Given the description of an element on the screen output the (x, y) to click on. 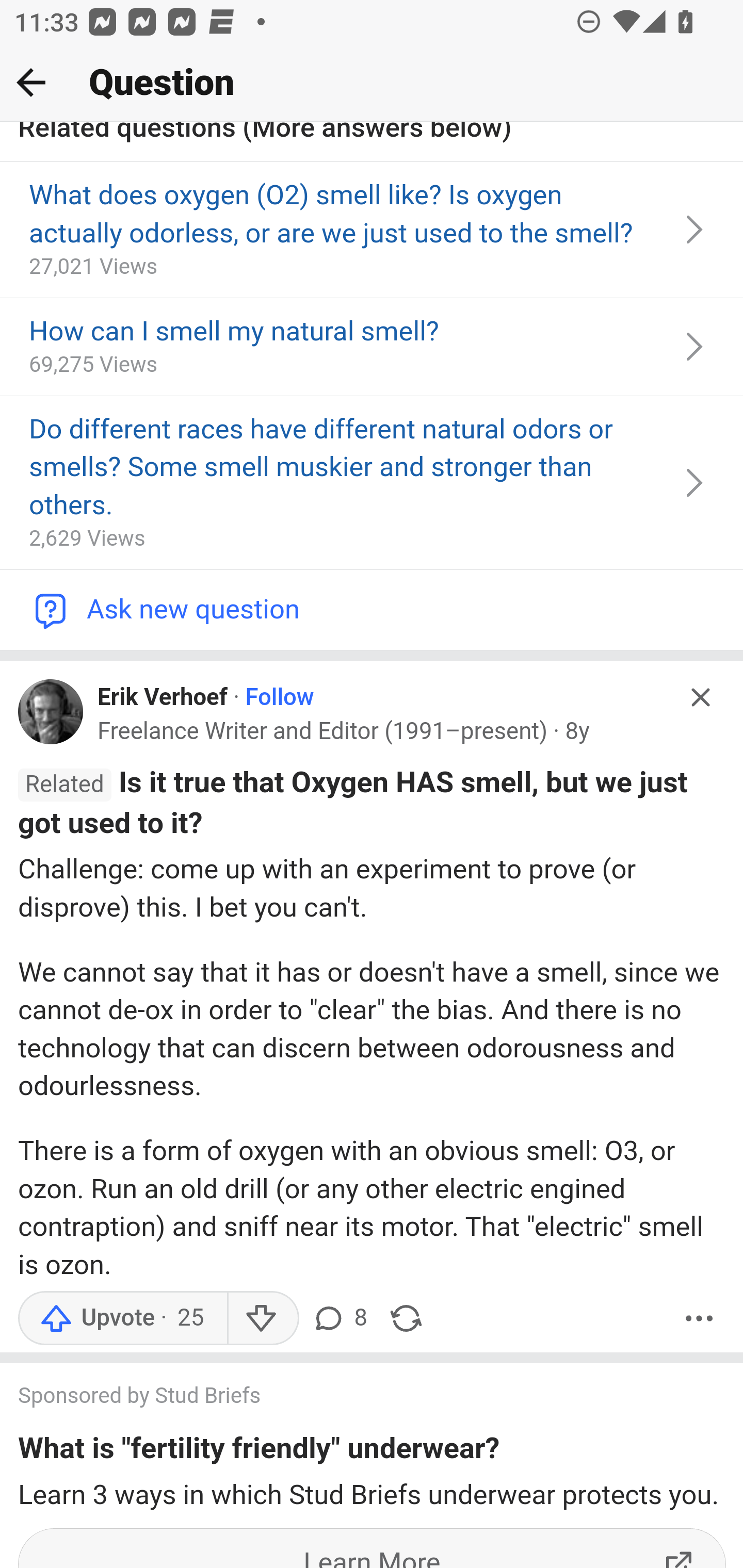
Back (30, 82)
How can I smell my natural smell? 69,275 Views (371, 347)
Ask new question (371, 610)
Hide (700, 698)
Profile photo for Erik Verhoef (50, 712)
Erik Verhoef (162, 698)
Follow (279, 698)
Sponsored by Stud Briefs (352, 1398)
What is "fertility friendly" underwear? (258, 1452)
